Given the description of an element on the screen output the (x, y) to click on. 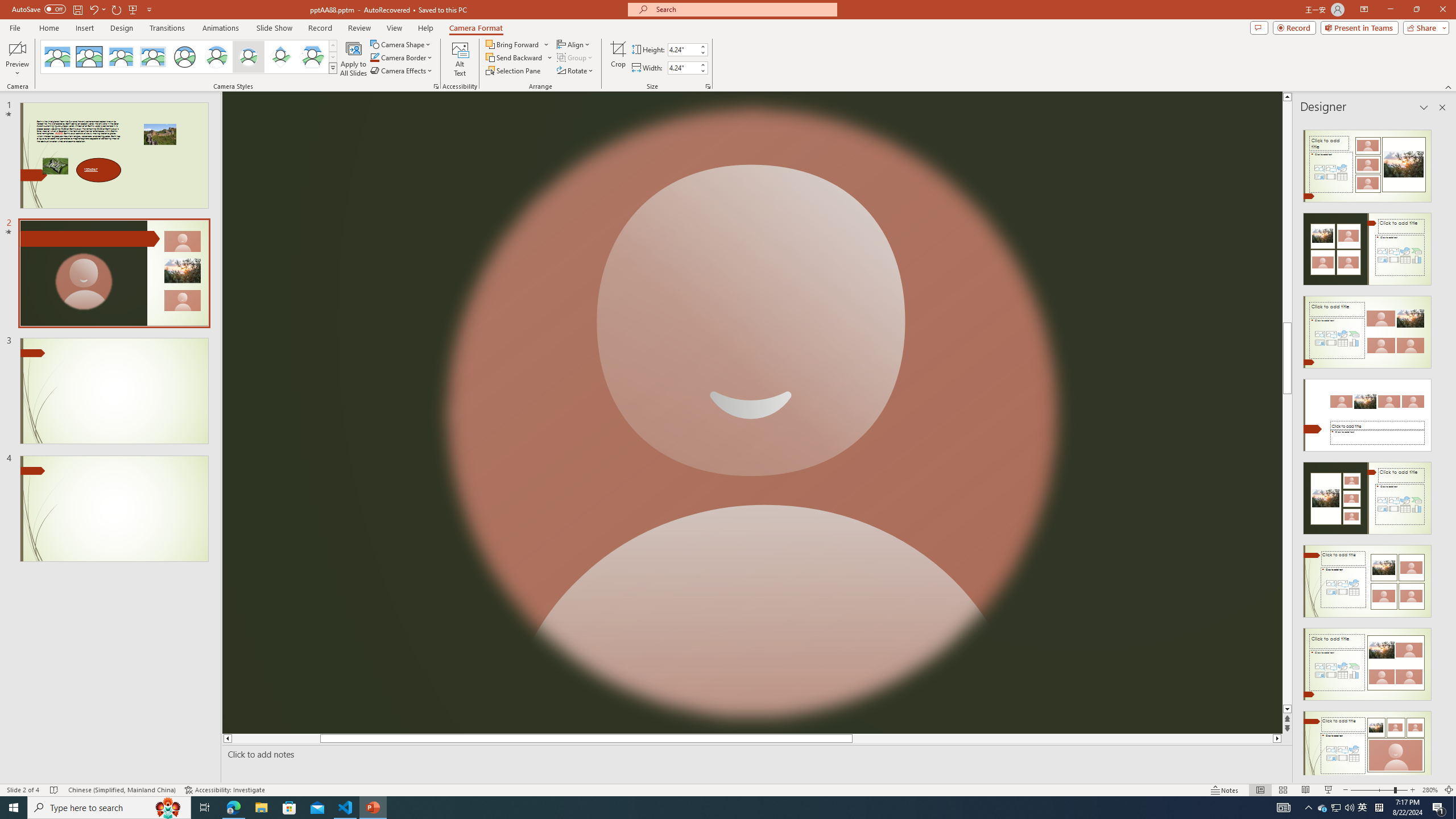
Enable Camera Preview (17, 48)
Minimize (1390, 9)
More Options (550, 56)
Accessibility Checker Accessibility: Investigate (224, 790)
Preview (17, 58)
AutomationID: CameoStylesGallery (189, 56)
Design (122, 28)
Soft Edge Rectangle (152, 56)
Selection Pane... (513, 69)
Home (48, 28)
Format Object... (435, 85)
Transitions (167, 28)
Reading View (1305, 790)
Cameo Height (682, 49)
Slide Notes (754, 754)
